Given the description of an element on the screen output the (x, y) to click on. 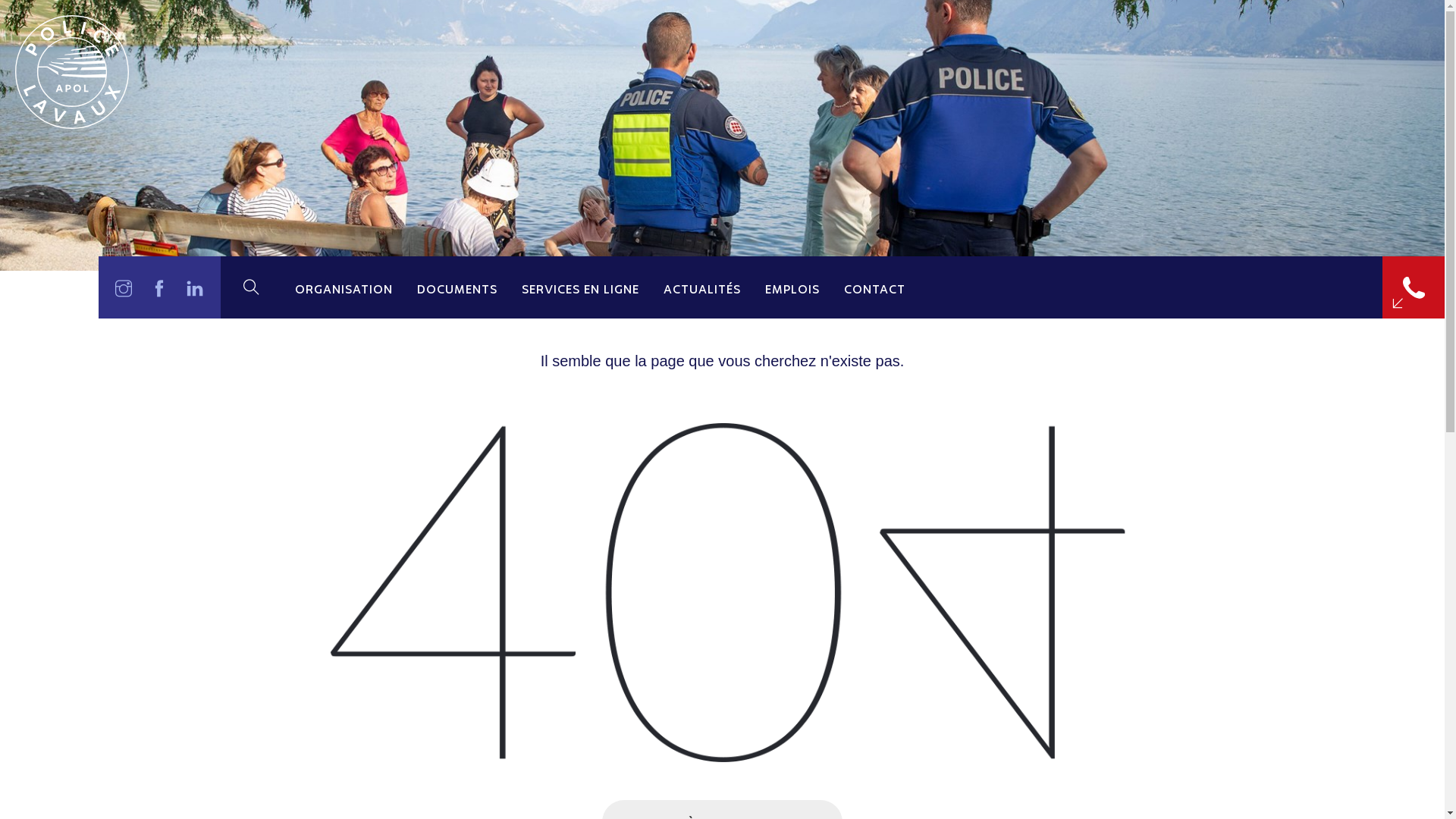
Instagram Element type: hover (123, 287)
CONTACT Element type: text (874, 287)
SERVICES EN LIGNE Element type: text (580, 287)
LinkedIn Element type: hover (195, 287)
Facebook Element type: hover (159, 287)
EMPLOIS Element type: text (792, 287)
DOCUMENTS Element type: text (456, 287)
ORGANISATION Element type: text (343, 287)
